Given the description of an element on the screen output the (x, y) to click on. 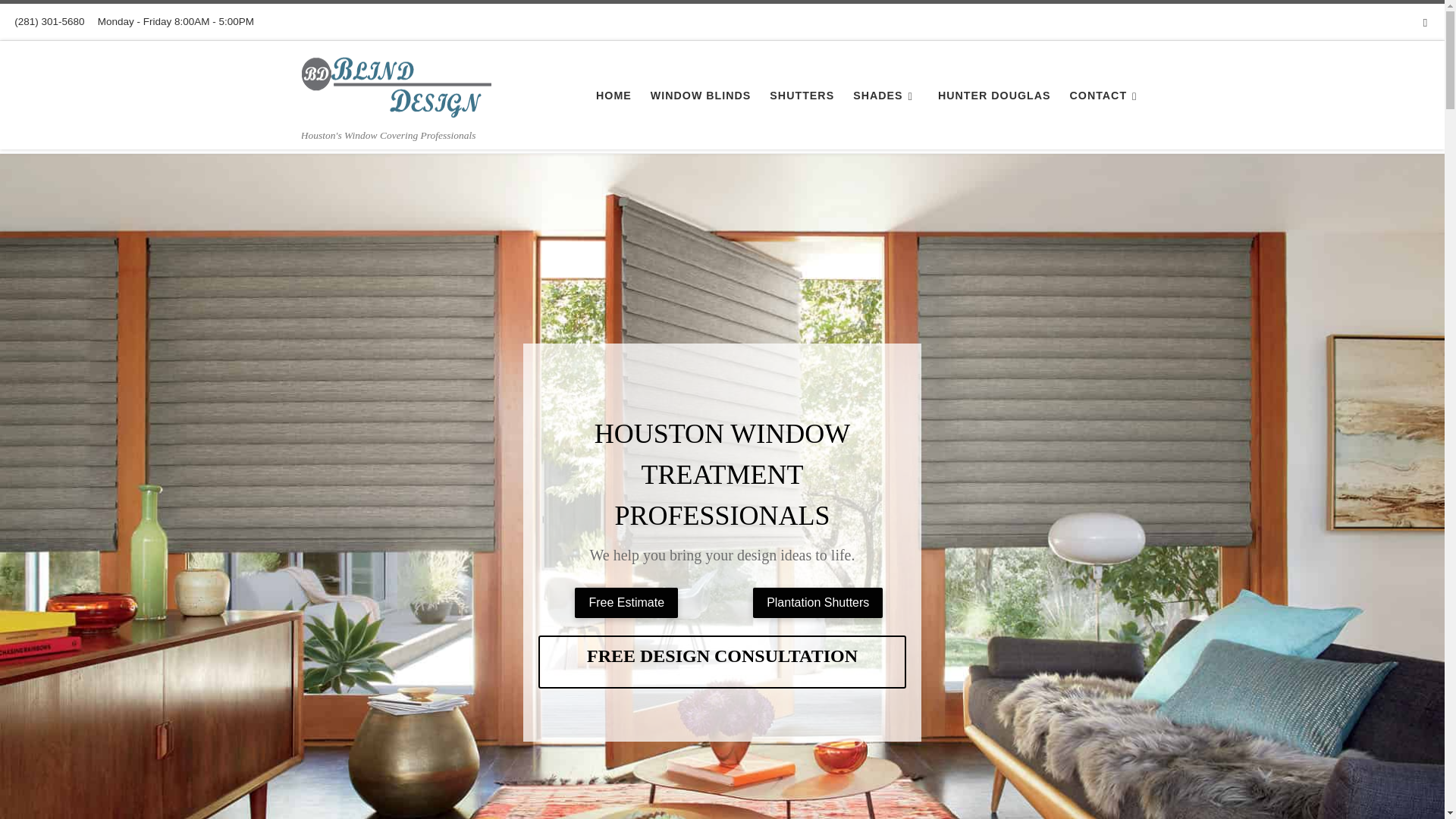
WINDOW BLINDS (700, 95)
Plantation Shutters (817, 603)
Free Estimate (626, 603)
SHUTTERS (801, 95)
SHADES (885, 95)
CONTACT (1105, 95)
Free Estimate (626, 603)
Skip to content (60, 20)
Plantation Shutters (817, 603)
HUNTER DOUGLAS (994, 95)
